Given the description of an element on the screen output the (x, y) to click on. 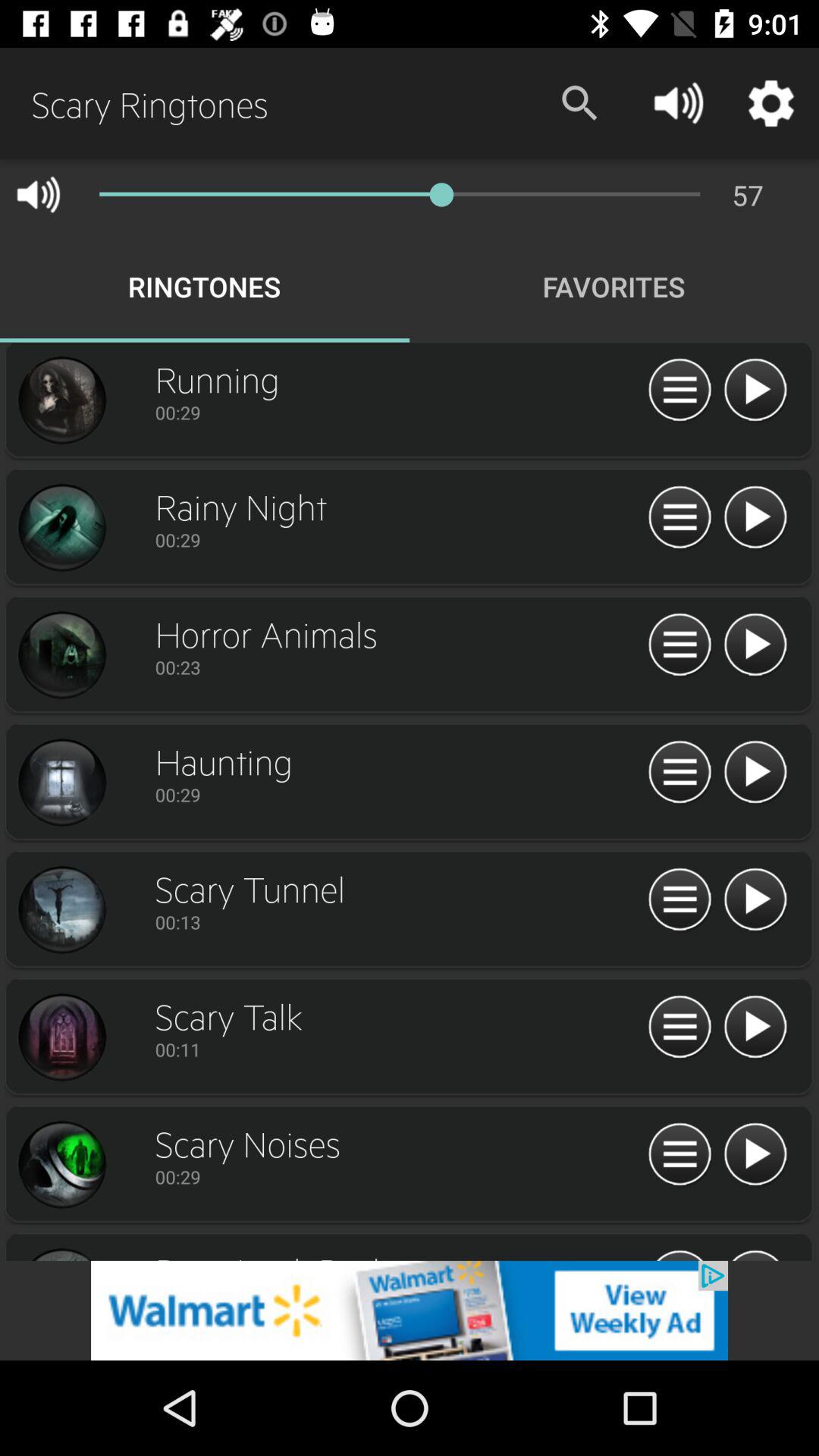
toggle play option (755, 645)
